Given the description of an element on the screen output the (x, y) to click on. 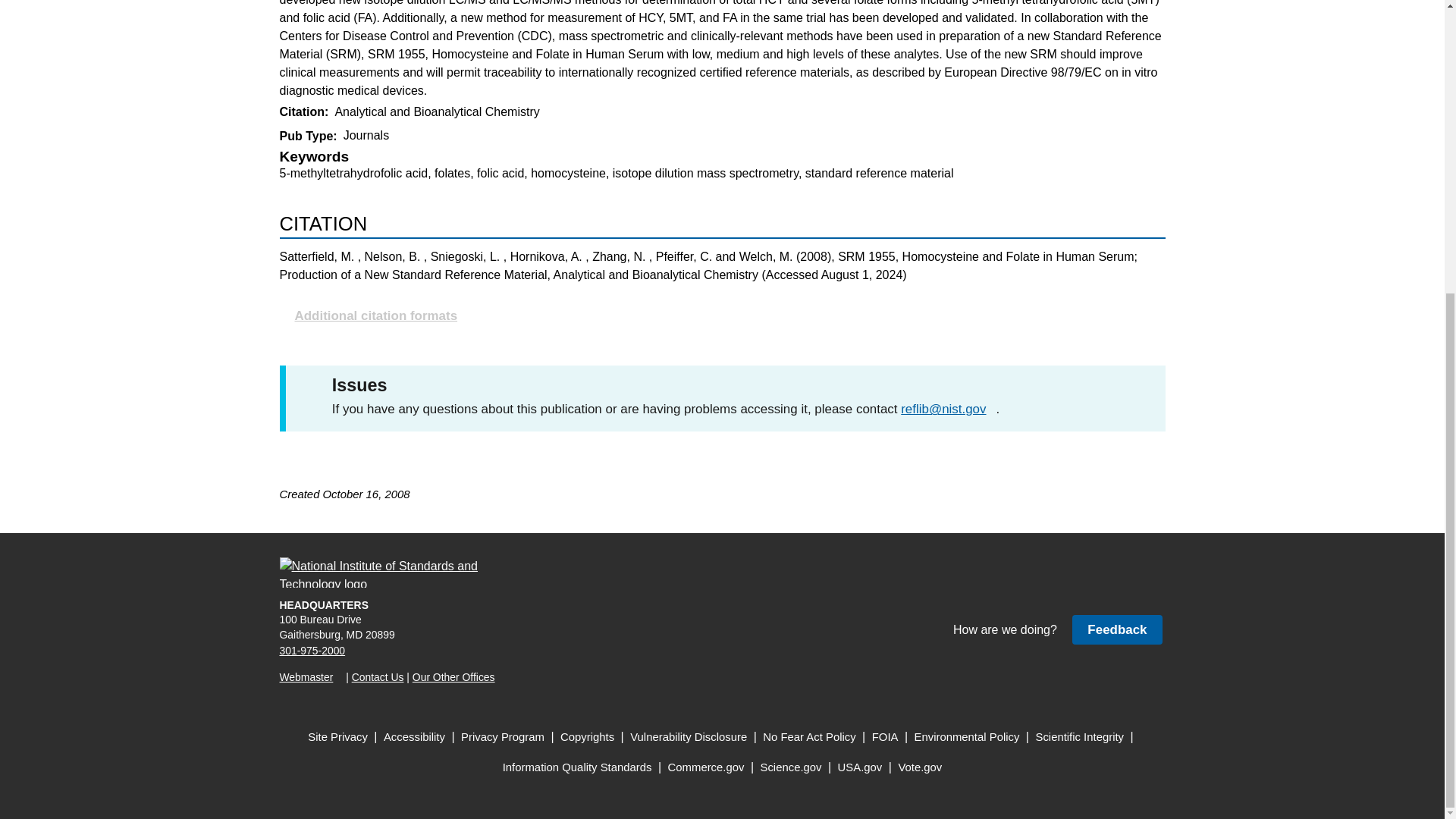
Privacy Program (502, 736)
Our Other Offices (453, 676)
Information Quality Standards (577, 767)
Environmental Policy (967, 736)
Site Privacy (337, 736)
Contact Us (378, 676)
Copyrights (587, 736)
301-975-2000 (312, 650)
Feedback (1116, 629)
Vulnerability Disclosure (688, 736)
Provide feedback (1116, 629)
Scientific Integrity (1079, 736)
Webmaster (310, 676)
No Fear Act Policy (809, 736)
Additional citation formats (721, 315)
